Given the description of an element on the screen output the (x, y) to click on. 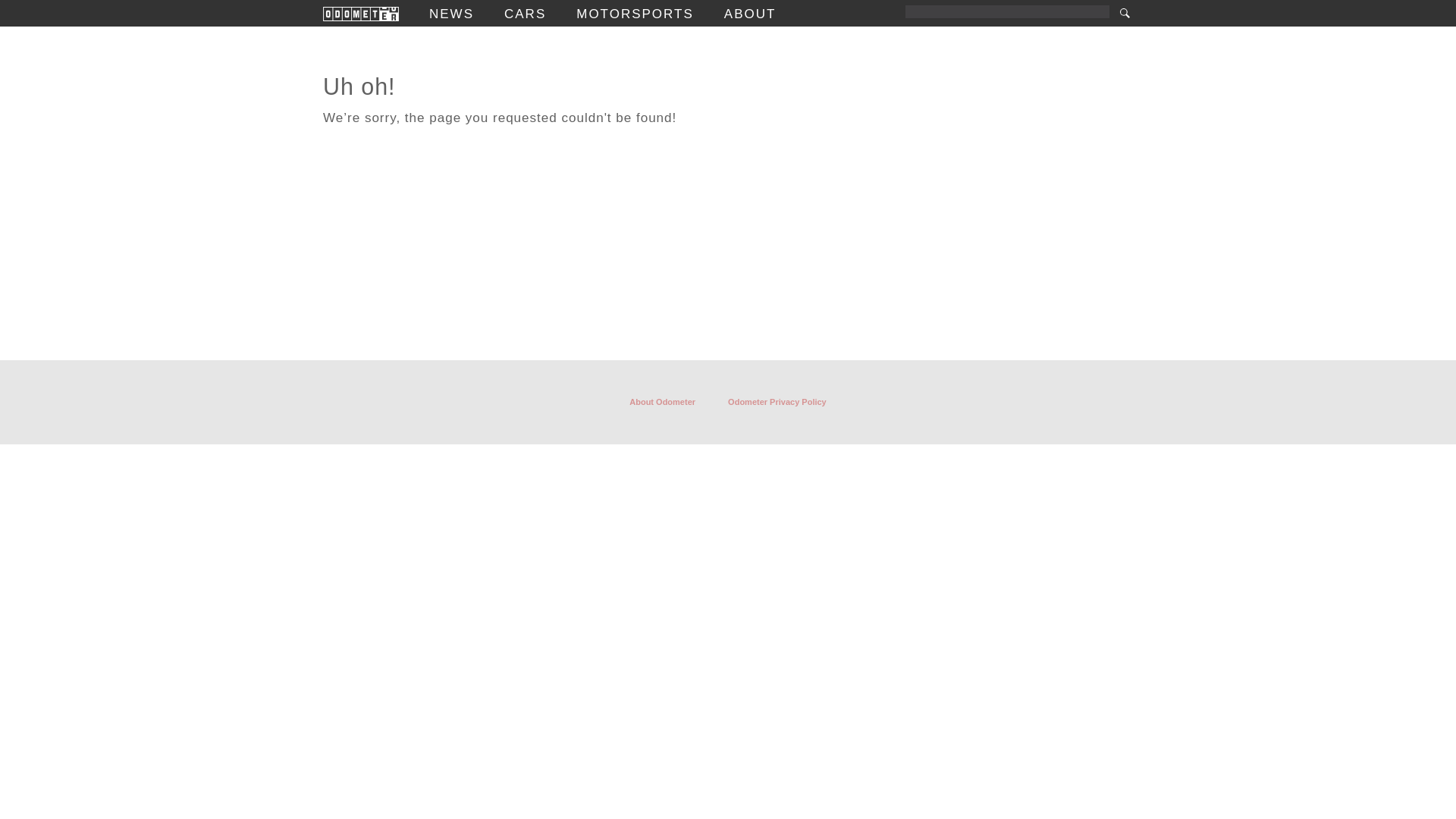
Odometer Privacy Policy (777, 402)
ABOUT (749, 13)
About Odometer (662, 402)
CARS (524, 13)
Search (1124, 12)
MOTORSPORTS (635, 13)
Odometer (360, 13)
NEWS (451, 13)
Search (1124, 12)
Search (1124, 12)
